Given the description of an element on the screen output the (x, y) to click on. 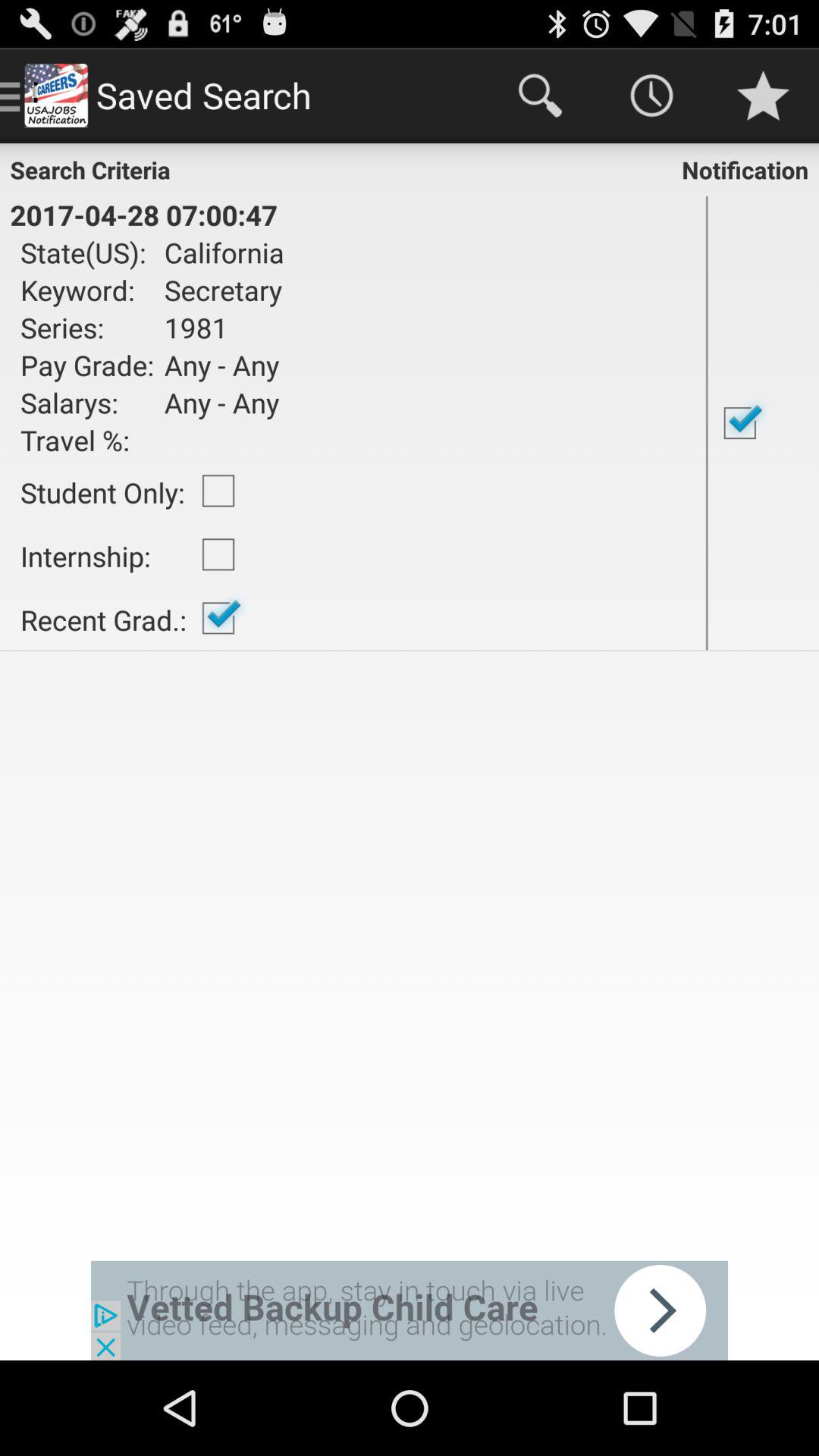
turn off the item next to the california icon (706, 423)
